Given the description of an element on the screen output the (x, y) to click on. 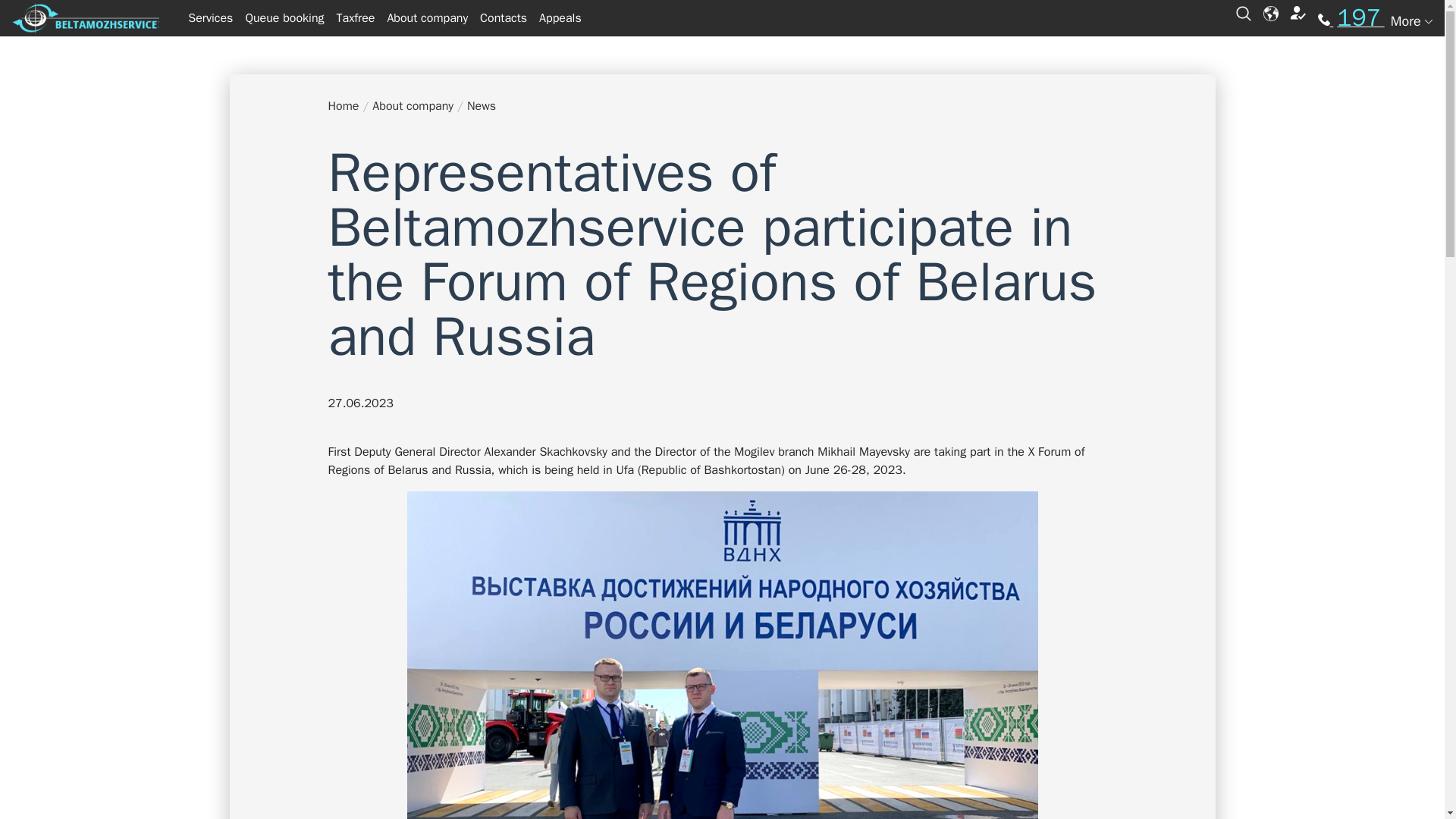
search (1243, 12)
Services (210, 17)
